Given the description of an element on the screen output the (x, y) to click on. 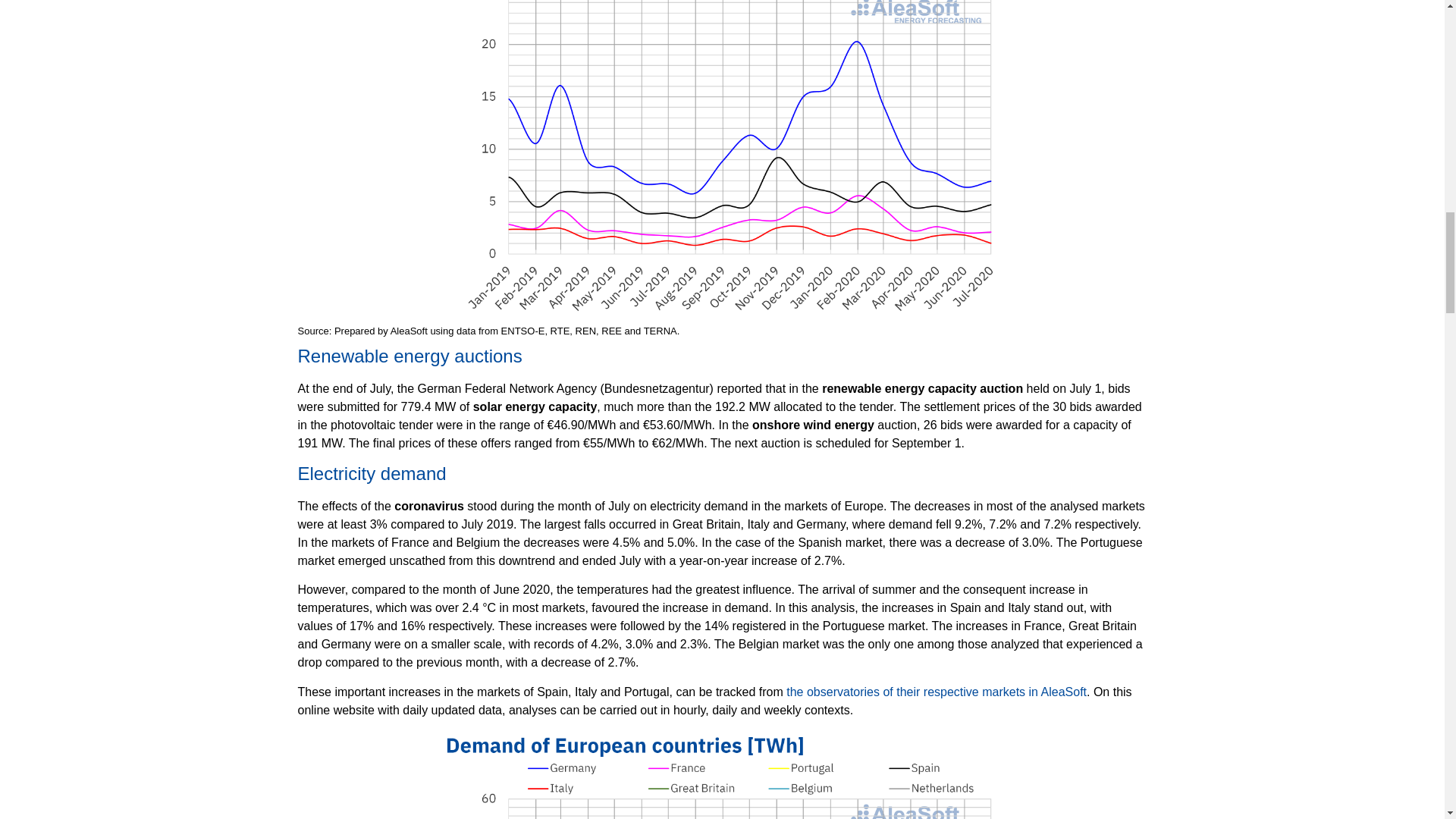
AleaSoft - Monthly electricity demand Europe (722, 774)
